Given the description of an element on the screen output the (x, y) to click on. 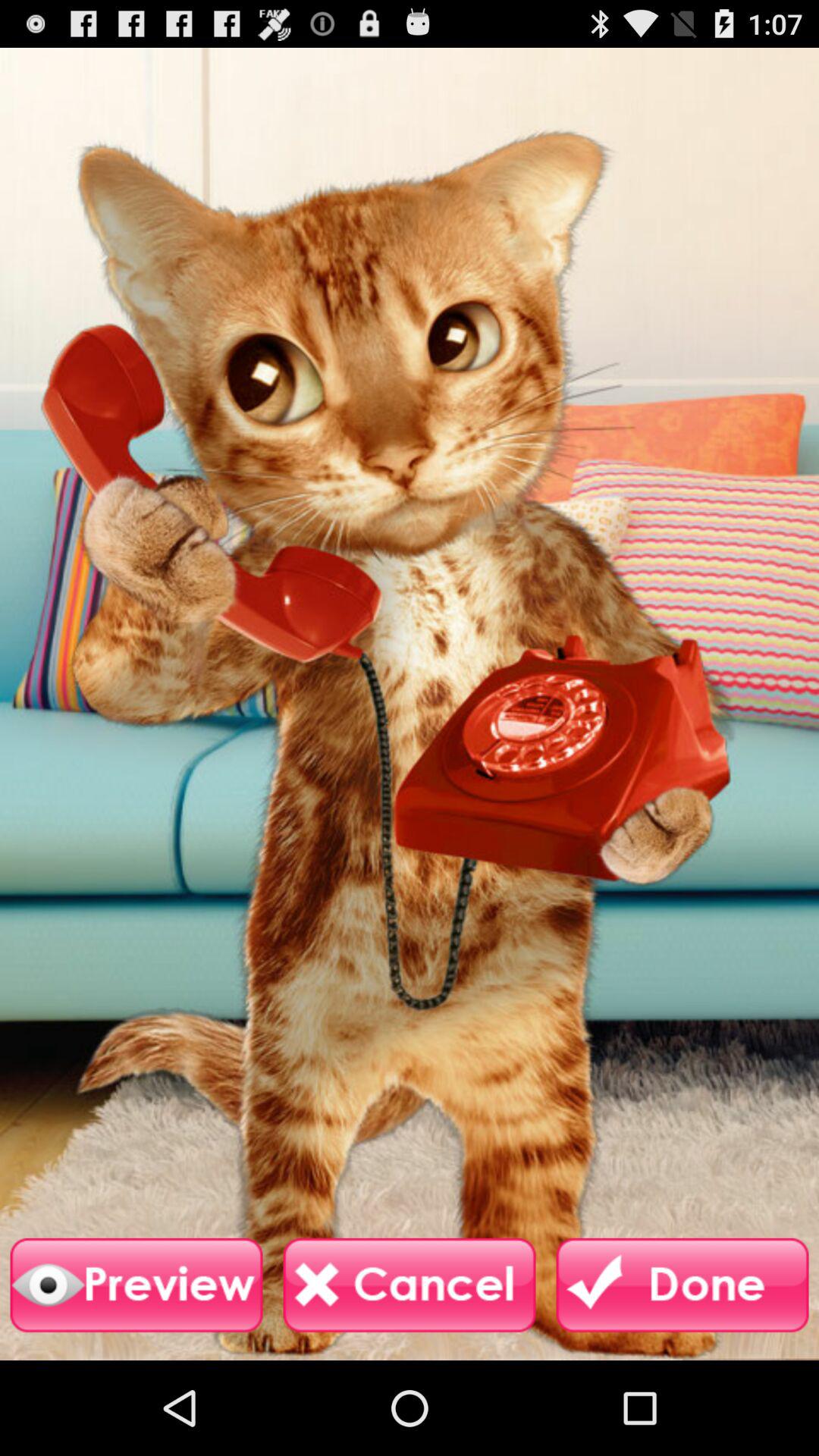
select preview (136, 1285)
